Given the description of an element on the screen output the (x, y) to click on. 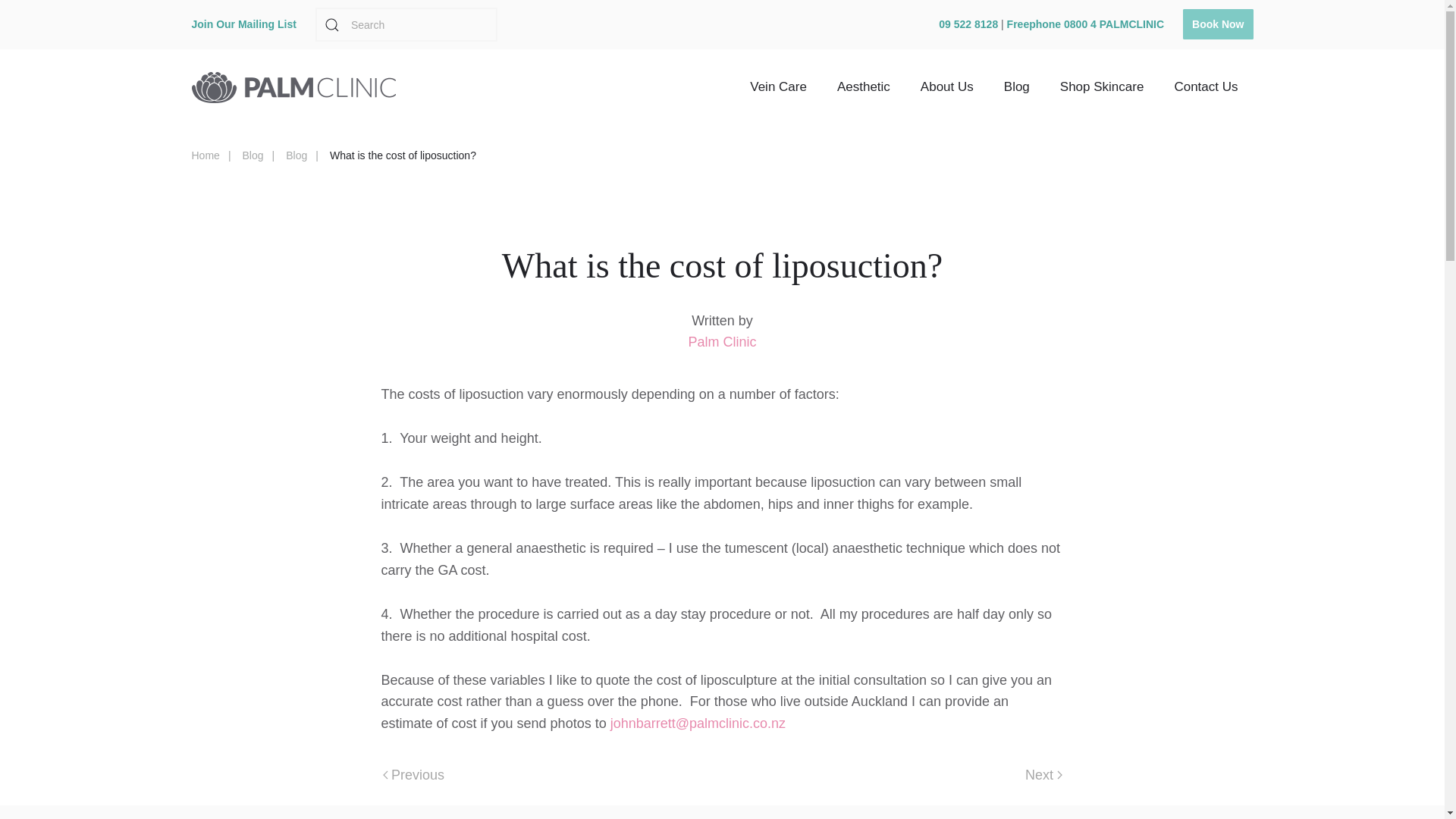
Palm Clinic (721, 341)
